Given the description of an element on the screen output the (x, y) to click on. 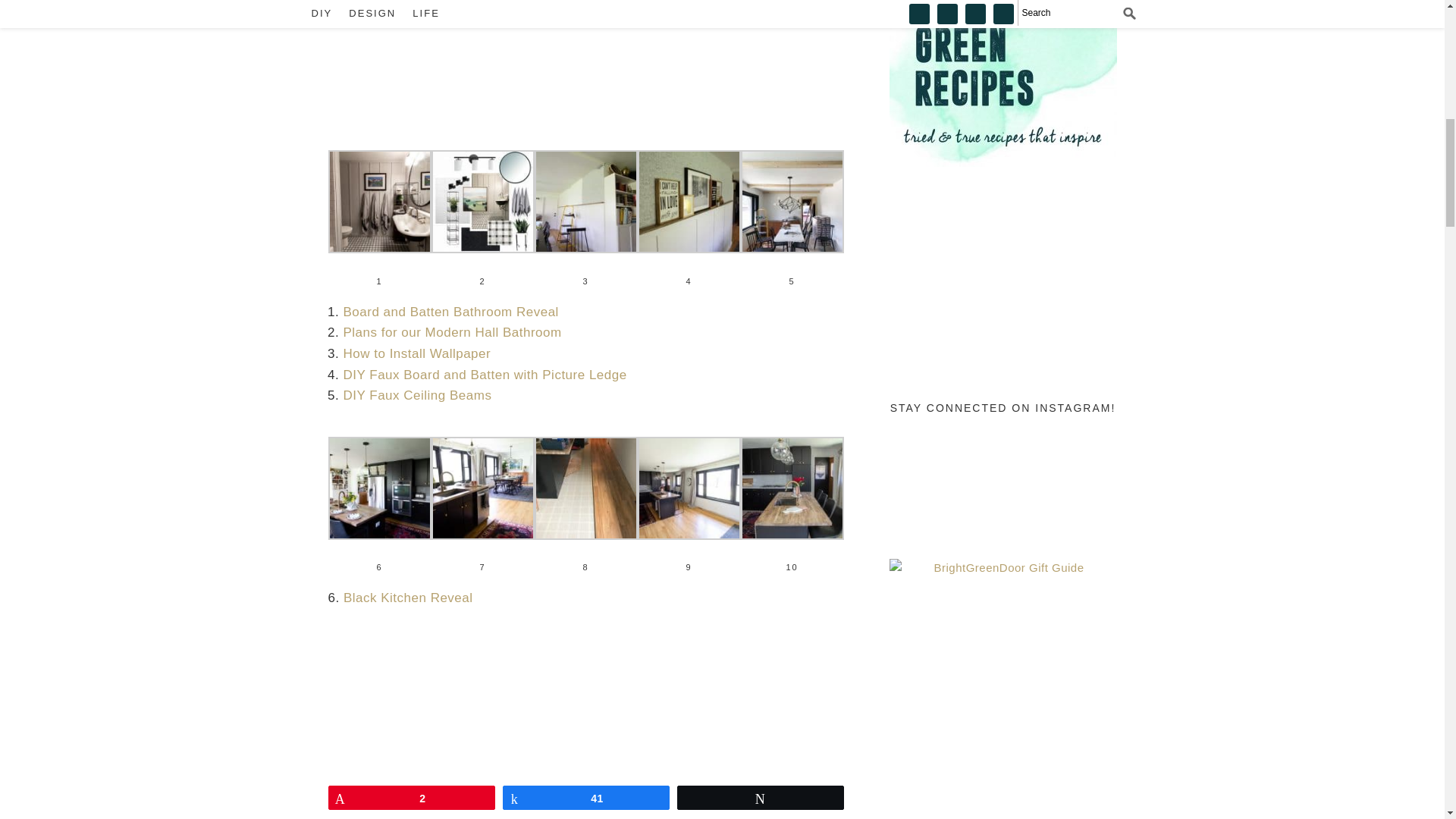
DIY Faux Ceiling Beams (417, 395)
How to Install Wallpaper (416, 353)
Board and Batten Bathroom Reveal (449, 311)
Black Kitchen Reveal (408, 597)
Plans for our Modern Hall Bathroom (451, 332)
Bright Green Door Gift Guide (1002, 672)
DIY Faux Board and Batten with Picture Ledge (484, 373)
